Given the description of an element on the screen output the (x, y) to click on. 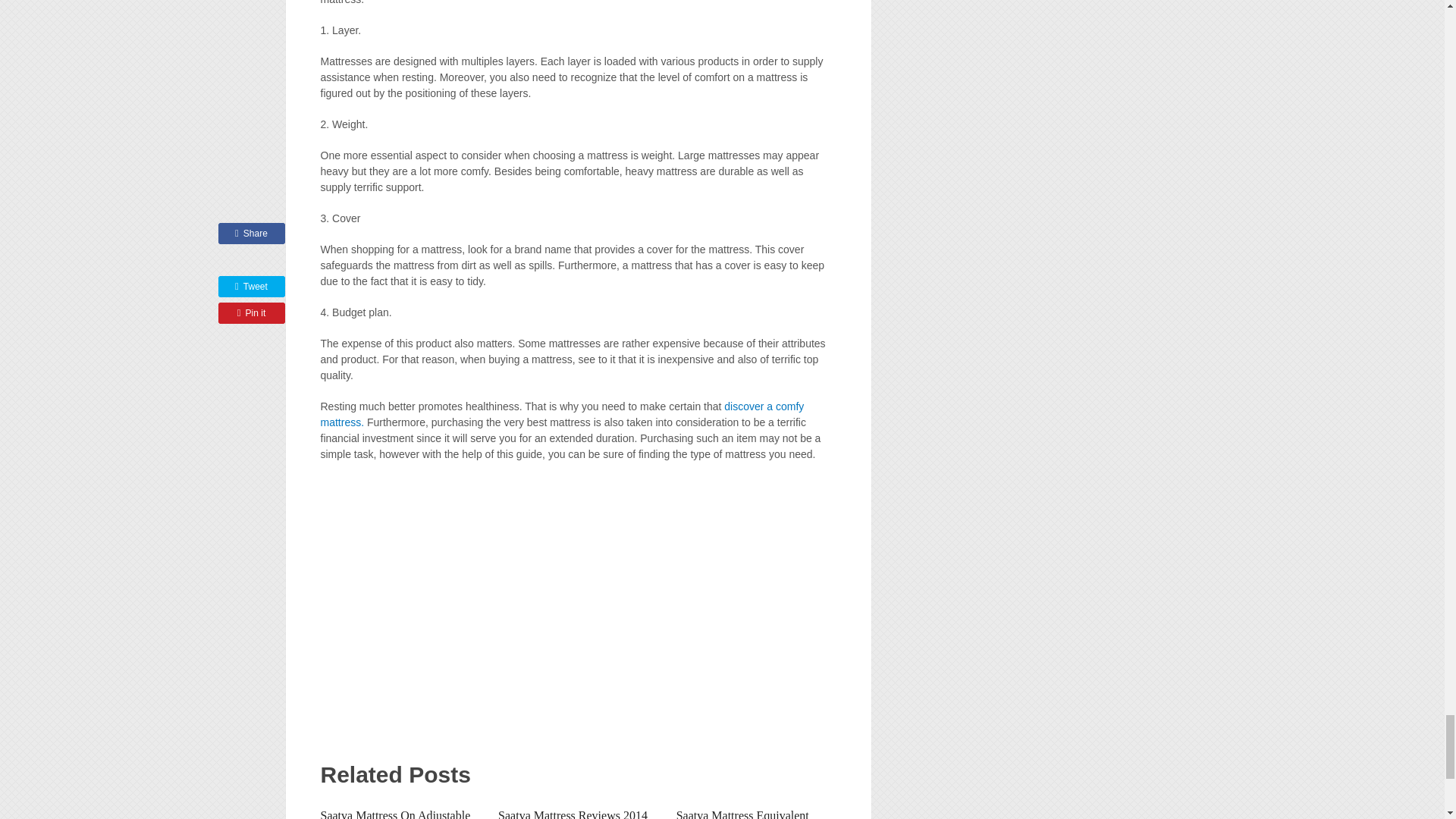
Saatva Mattress On Adjustable Base (395, 814)
Saatva Mattress Equivalent (743, 814)
Saatva Mattress Reviews 2014 (572, 814)
